Given the description of an element on the screen output the (x, y) to click on. 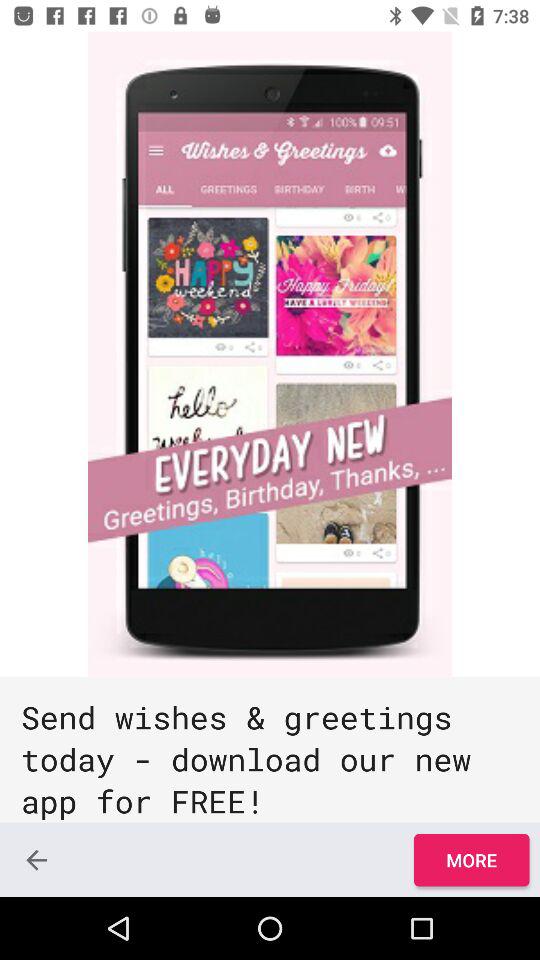
launch the icon next to more item (36, 859)
